Given the description of an element on the screen output the (x, y) to click on. 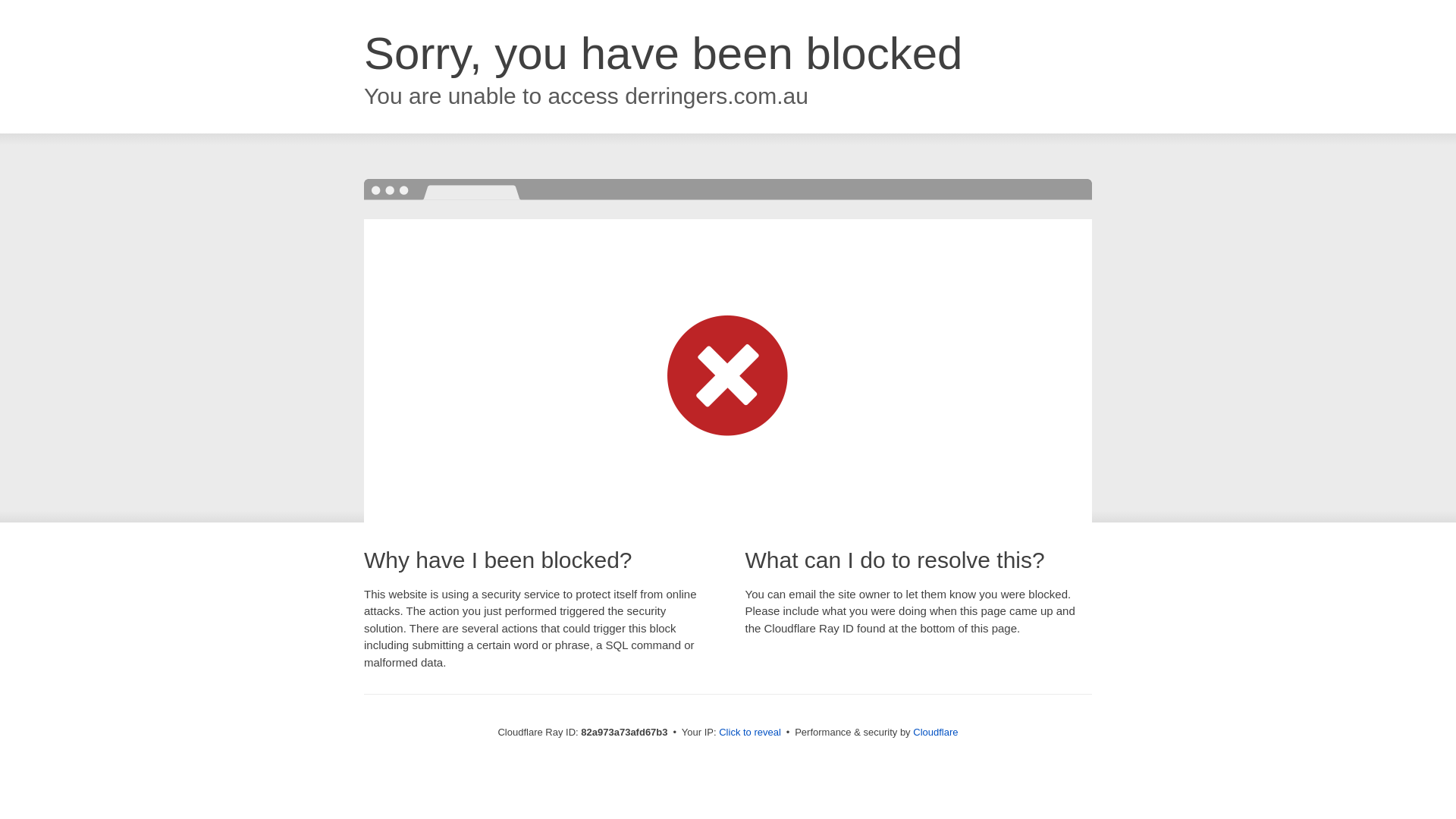
Cloudflare Element type: text (935, 731)
Click to reveal Element type: text (749, 732)
